Given the description of an element on the screen output the (x, y) to click on. 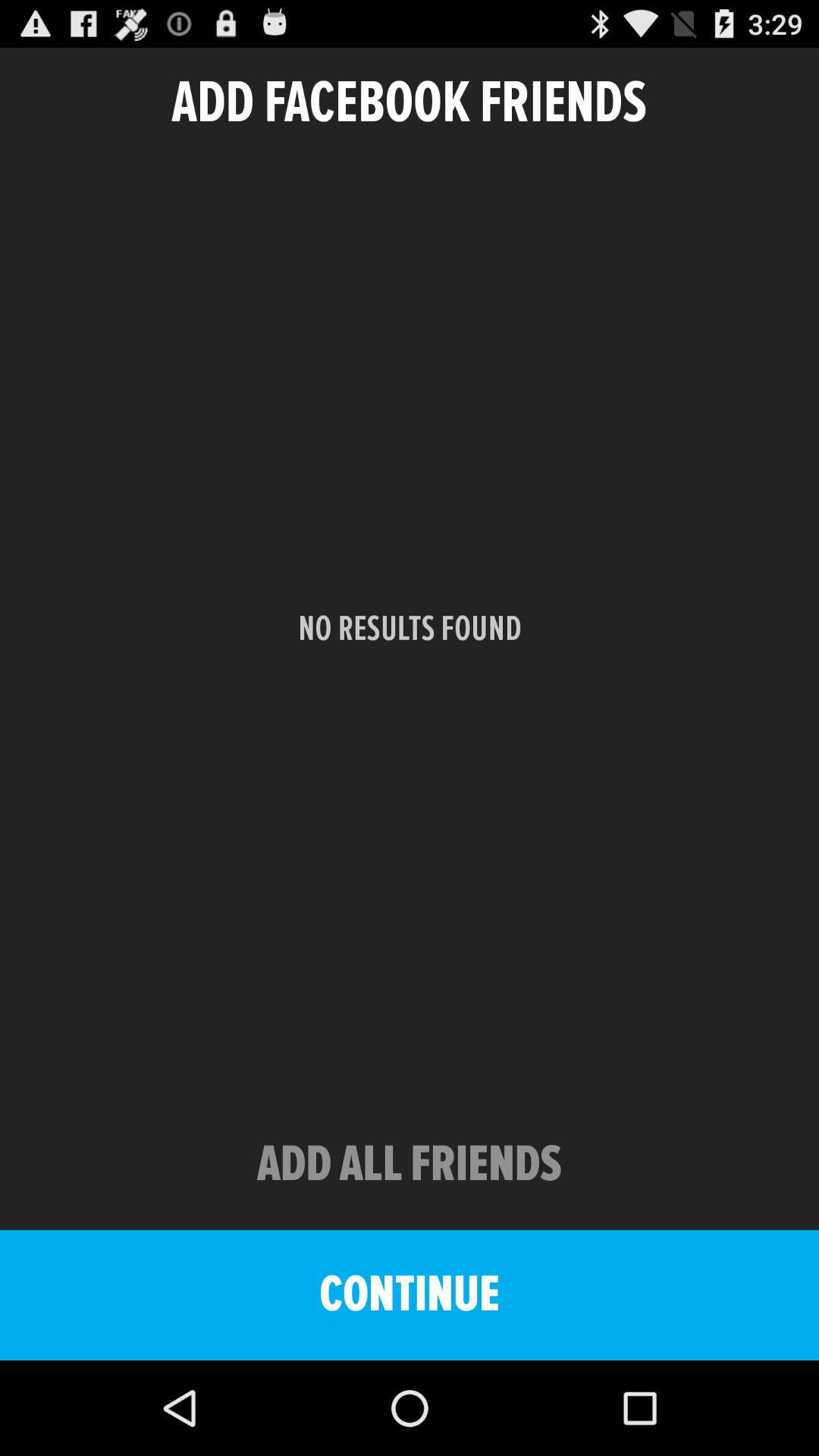
press the continue icon (409, 1295)
